Given the description of an element on the screen output the (x, y) to click on. 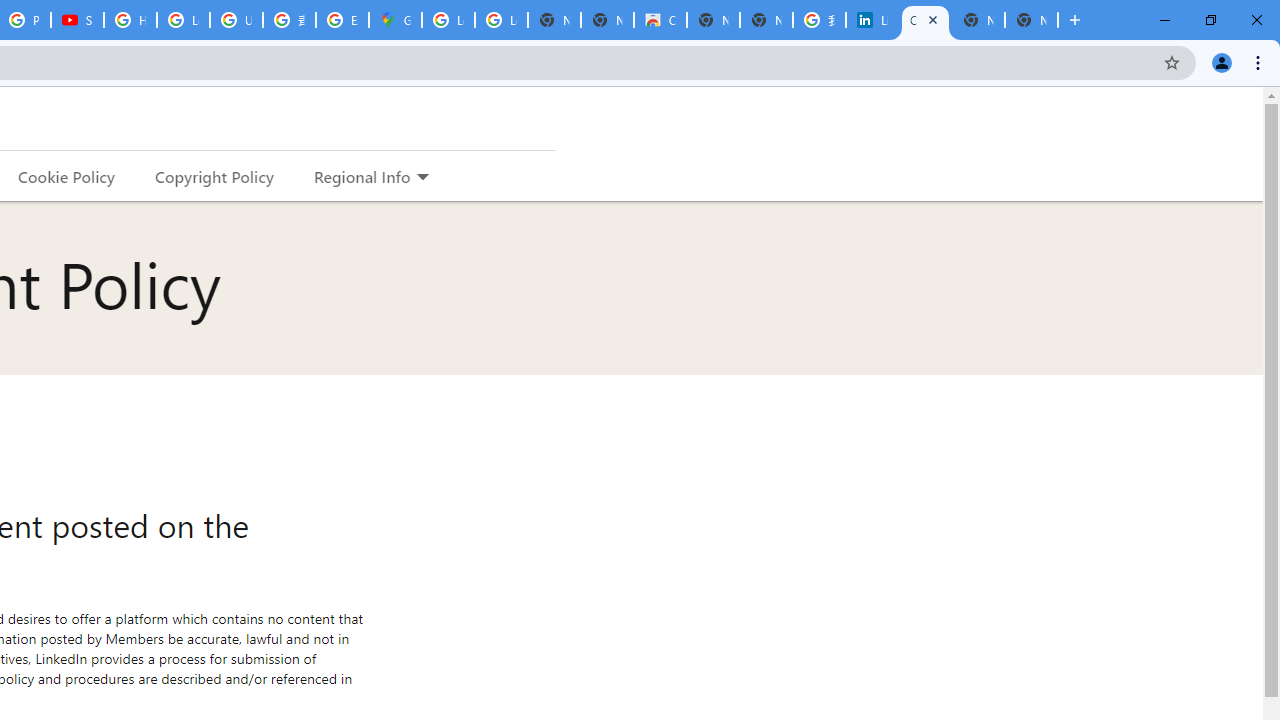
Google Maps (395, 20)
Copyright Policy (213, 176)
New Tab (1031, 20)
Copyright Policy (925, 20)
LinkedIn Login, Sign in | LinkedIn (872, 20)
Cookie Policy (66, 176)
Expand to show more links for Regional Info (422, 178)
